Given the description of an element on the screen output the (x, y) to click on. 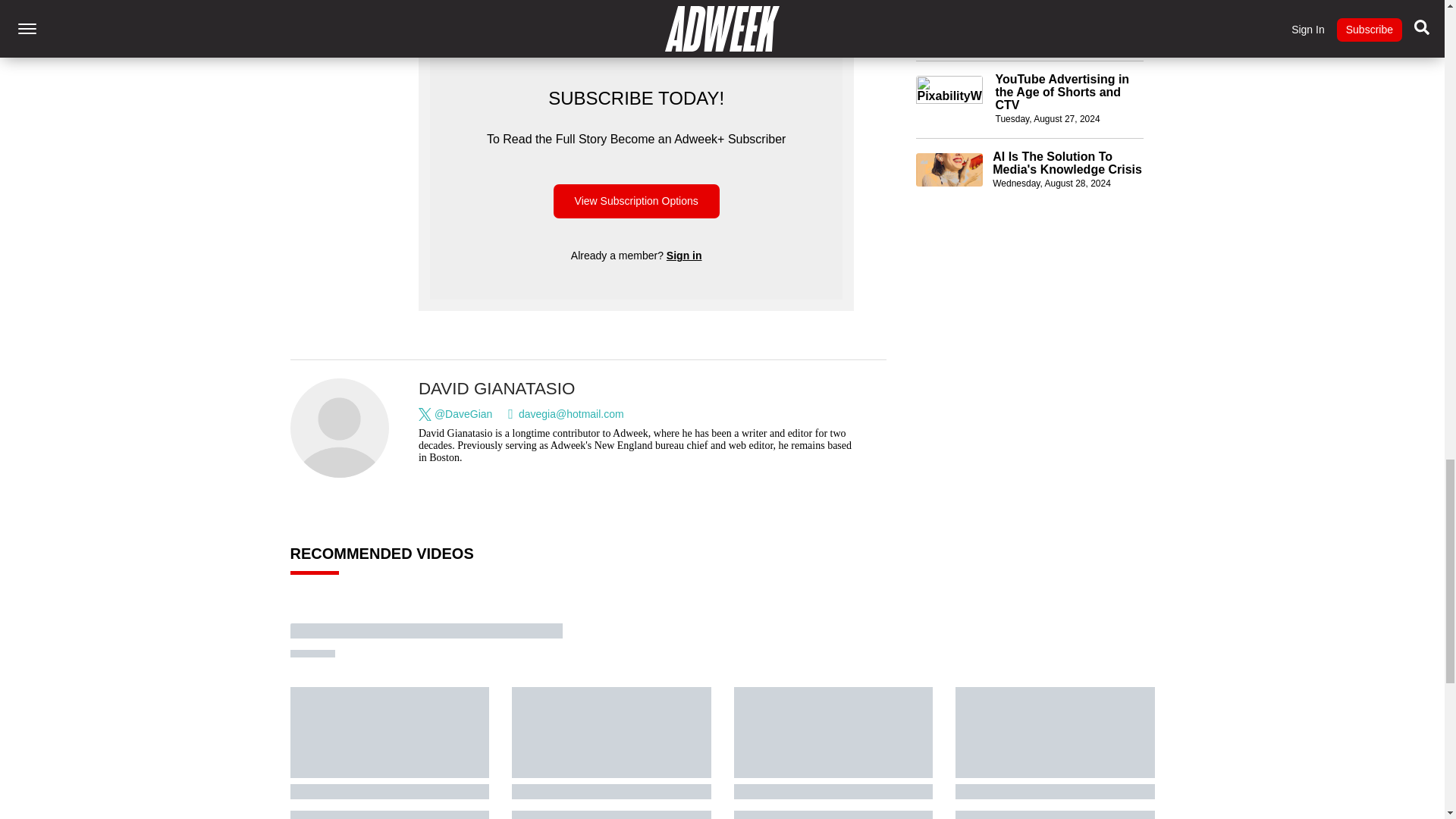
Qatalog-Webinar-082824-Header (948, 169)
Sign in (683, 255)
PixabilityWebinar082724Header (948, 92)
Adobe-Webinar-082224-Header (948, 15)
View Subscription Options (636, 201)
